Given the description of an element on the screen output the (x, y) to click on. 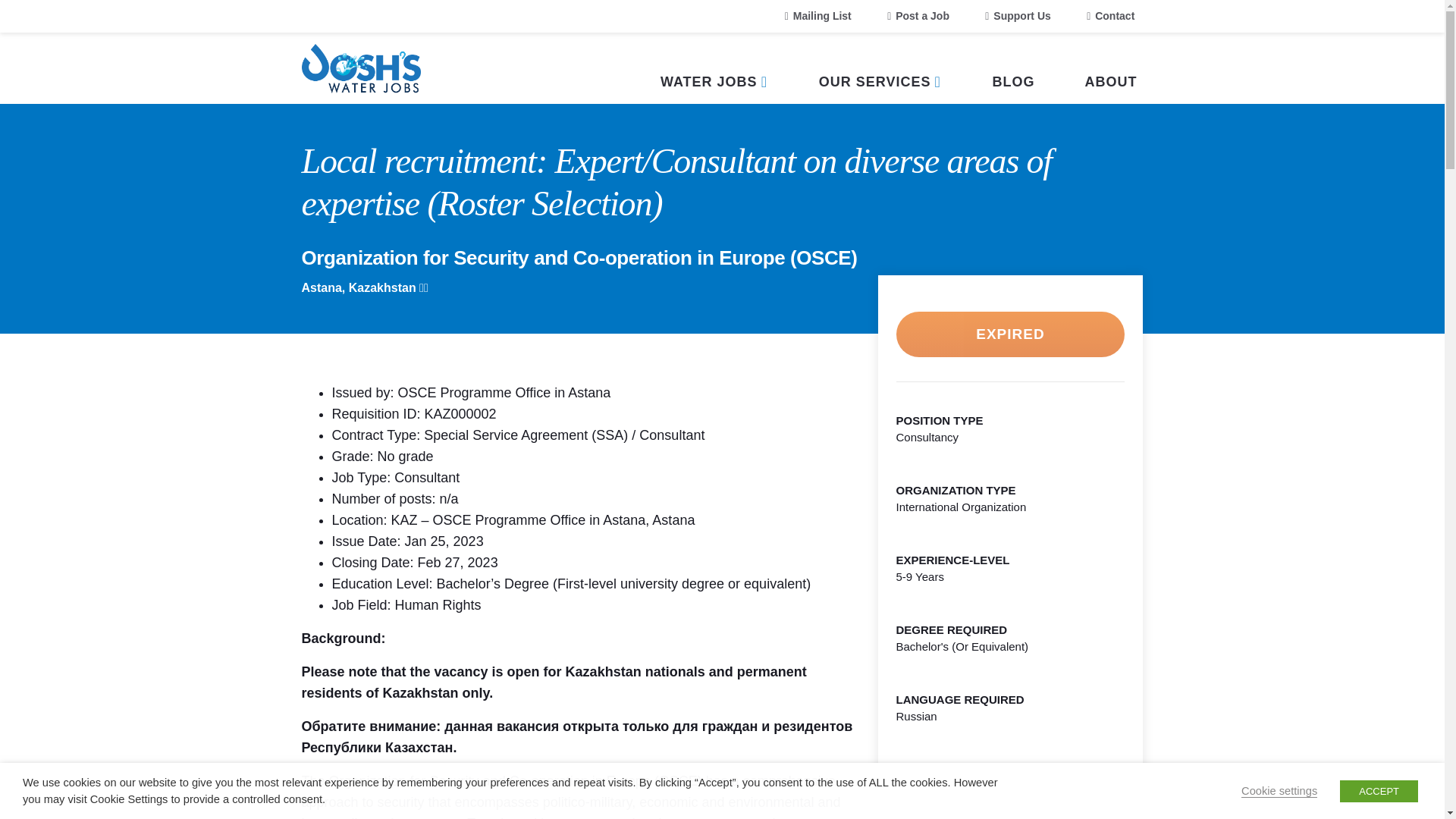
Post a Job (918, 16)
ABOUT (1110, 68)
Support Us (1017, 16)
 Contact (1110, 16)
OUR SERVICES (880, 68)
EXPIRED (1010, 332)
EXPIRED (1010, 334)
Water Jobs (713, 68)
Mailing List (818, 16)
WATER JOBS (713, 68)
 Mailing List (818, 16)
 Post a Job (918, 16)
Contact (1110, 16)
Our Services (880, 68)
About (1110, 68)
